Given the description of an element on the screen output the (x, y) to click on. 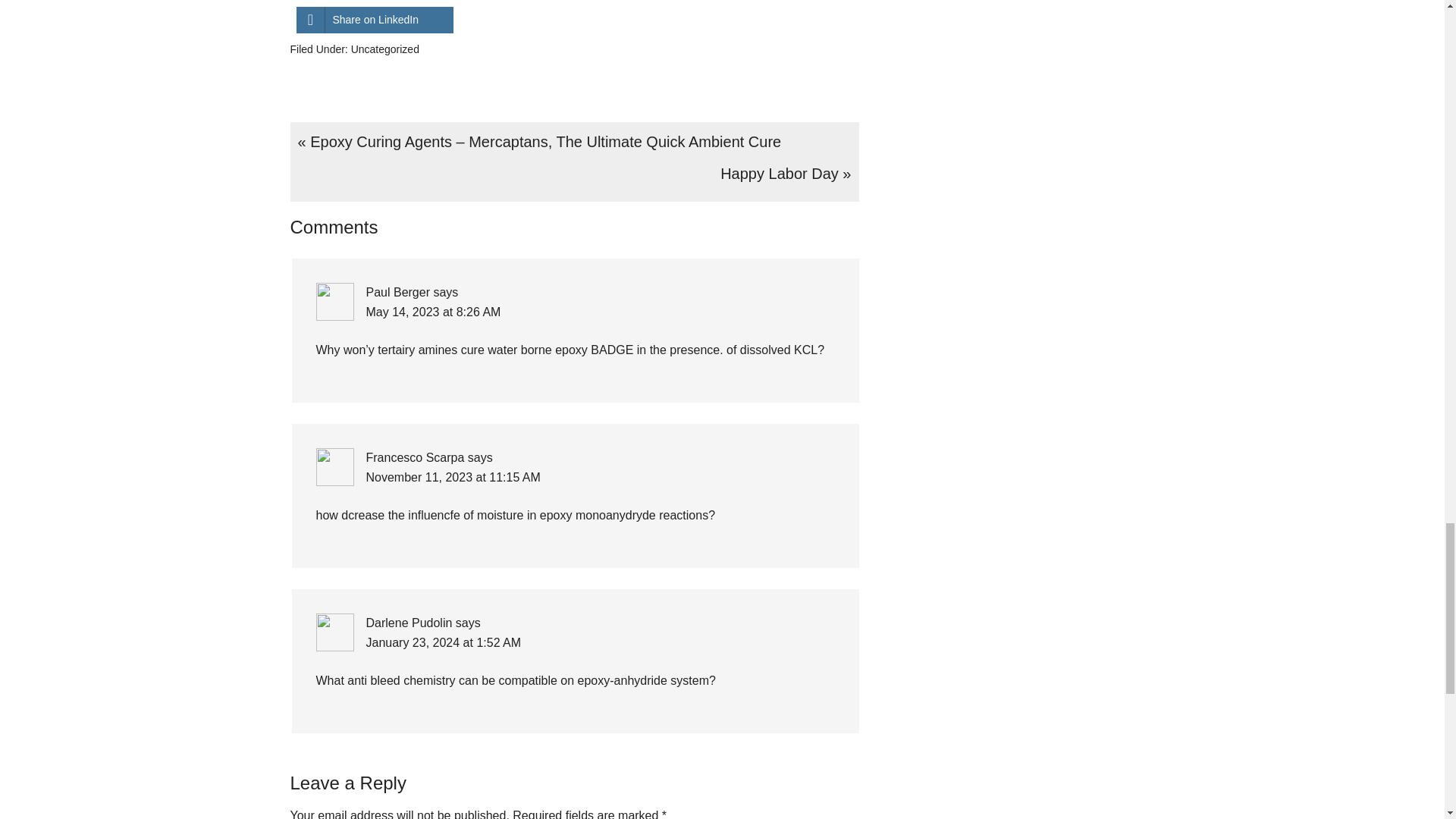
Share on LinkedIn (373, 19)
May 14, 2023 at 8:26 AM (432, 311)
January 23, 2024 at 1:52 AM (443, 642)
November 11, 2023 at 11:15 AM (452, 477)
Share on LinkedIn (373, 19)
Paul Berger (397, 291)
Uncategorized (384, 49)
